Given the description of an element on the screen output the (x, y) to click on. 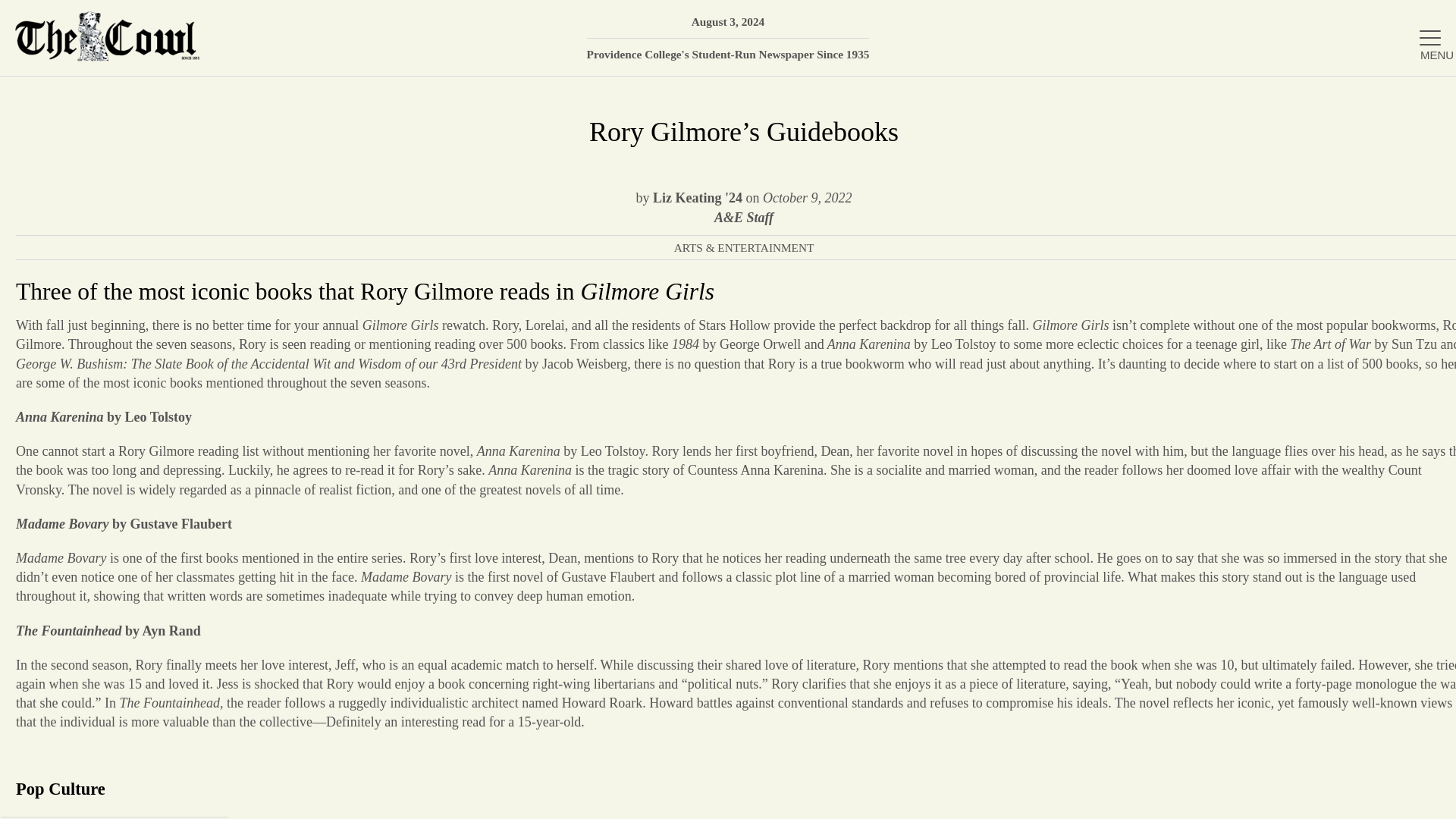
Portfolio (1275, 321)
News (1275, 174)
Letters to the Editor (1275, 420)
Sports (1275, 370)
Search (1422, 19)
Search (1422, 19)
Home (1275, 74)
About Us (1275, 124)
Pop Culture (114, 789)
Opinion (1275, 272)
Search (1422, 19)
